Given the description of an element on the screen output the (x, y) to click on. 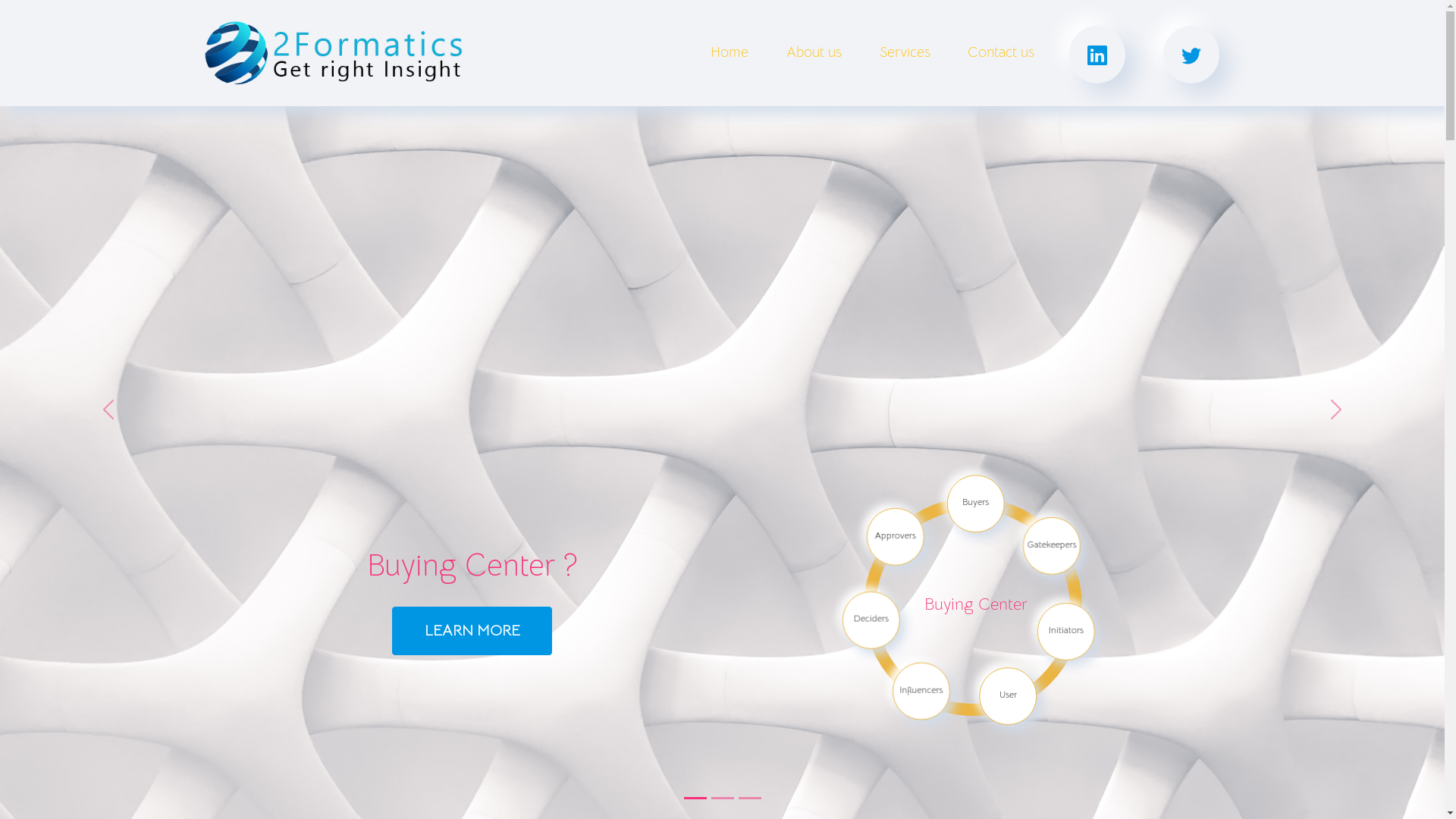
About us Element type: text (813, 52)
Home Element type: text (729, 52)
Services Element type: text (905, 52)
Contact us Element type: text (1001, 52)
